Given the description of an element on the screen output the (x, y) to click on. 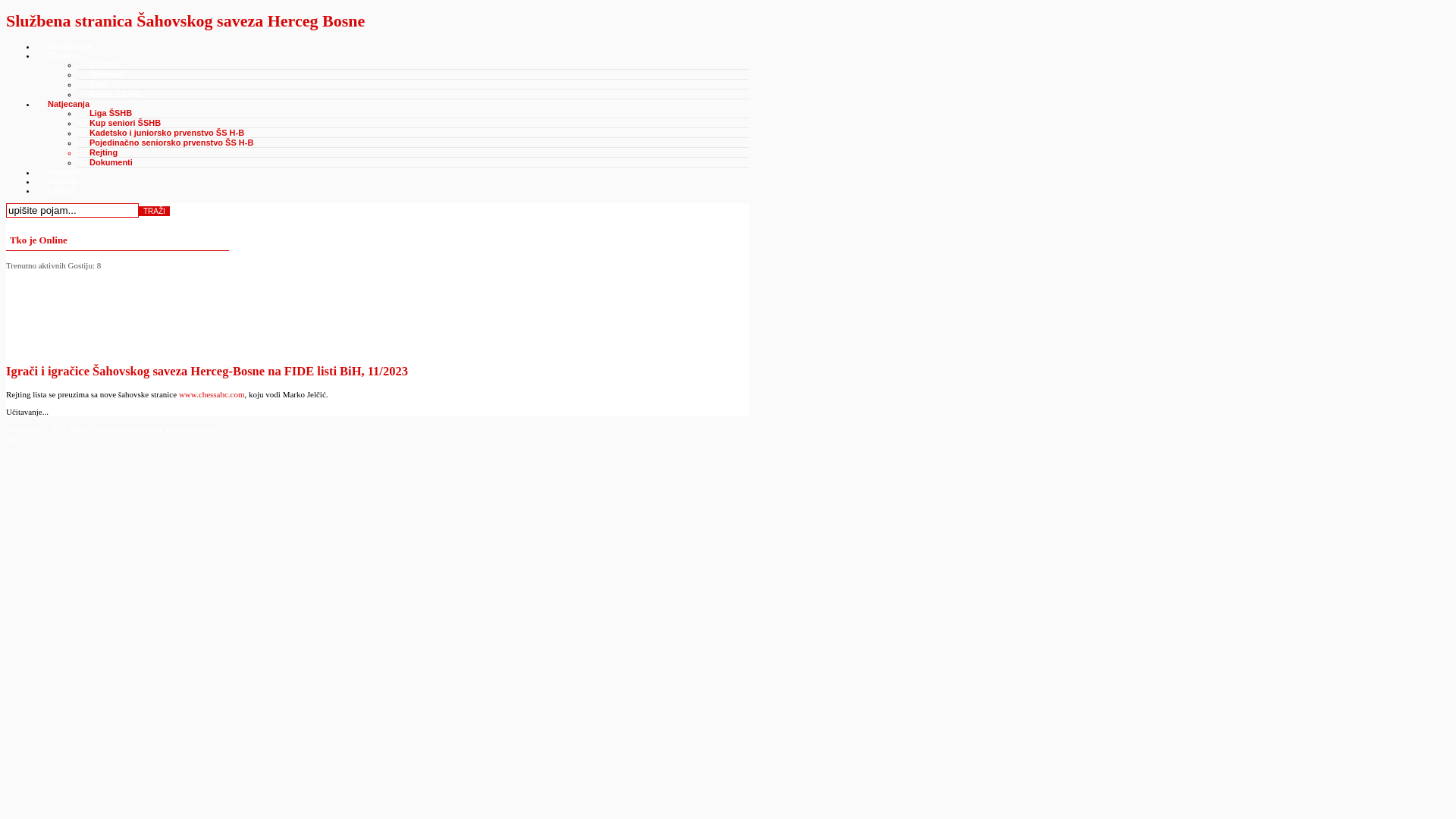
Rejting Element type: text (103, 151)
Dizajn by bobos Element type: text (192, 428)
Galerija Element type: text (62, 180)
Linkovi Element type: text (62, 189)
Klubovi Element type: text (62, 171)
Kontakt Element type: text (104, 64)
Webmail Element type: text (106, 73)
Dokumenti Element type: text (110, 161)
Naslovnica Element type: text (69, 45)
www.chessabc.com Element type: text (211, 393)
Top Element type: text (12, 437)
O nama Element type: text (62, 54)
Suci Element type: text (97, 83)
Natjecanja Element type: text (68, 103)
